Given the description of an element on the screen output the (x, y) to click on. 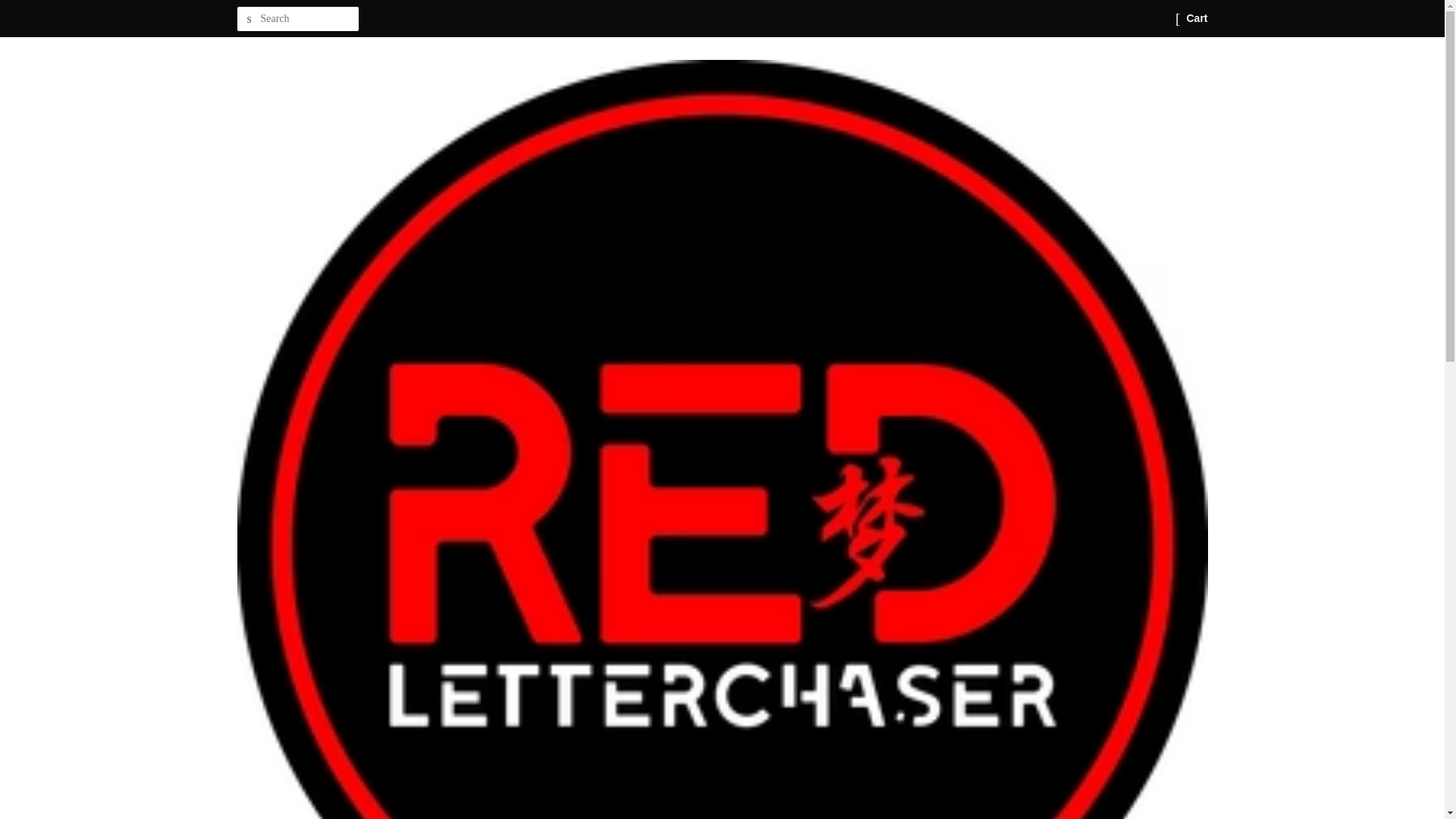
Search (247, 18)
Cart (1196, 18)
